Given the description of an element on the screen output the (x, y) to click on. 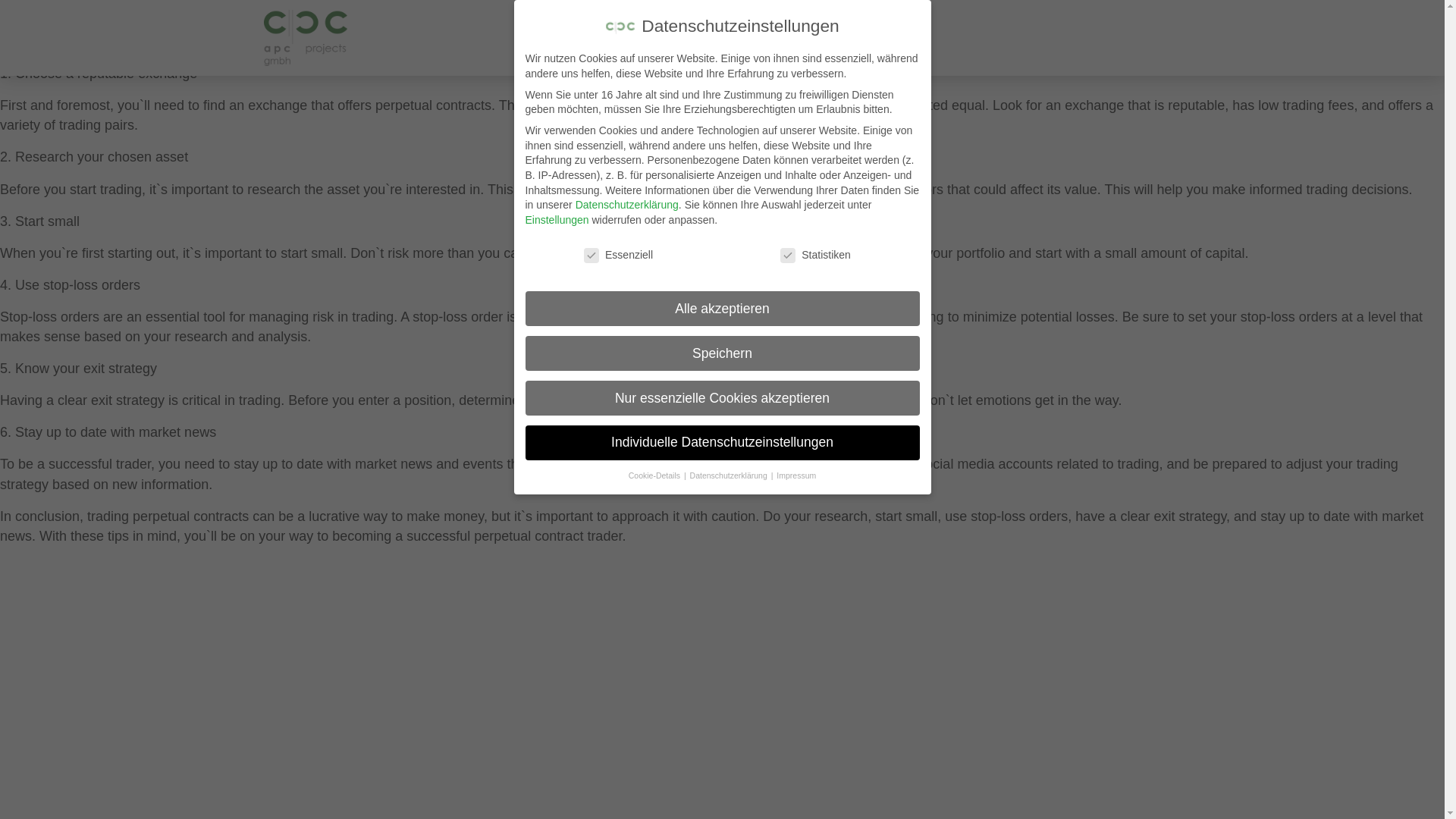
Cookie-Details (655, 360)
Alle akzeptieren (721, 99)
Impressum (795, 393)
Nur essenzielle Cookies akzeptieren (721, 240)
Speichern (721, 171)
Individuelle Datenschutzeinstellungen (721, 308)
